Given the description of an element on the screen output the (x, y) to click on. 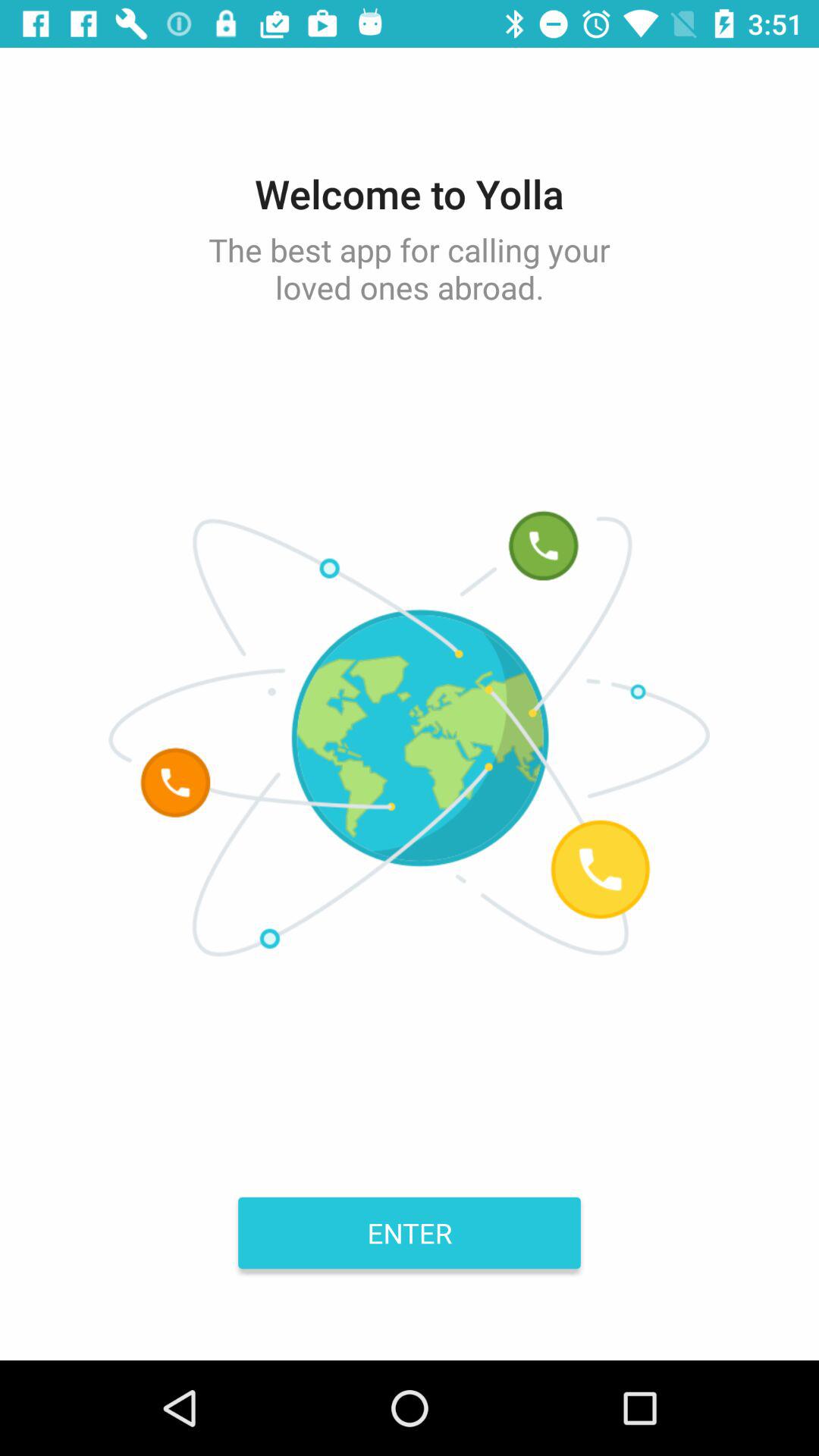
choose enter item (409, 1232)
